Given the description of an element on the screen output the (x, y) to click on. 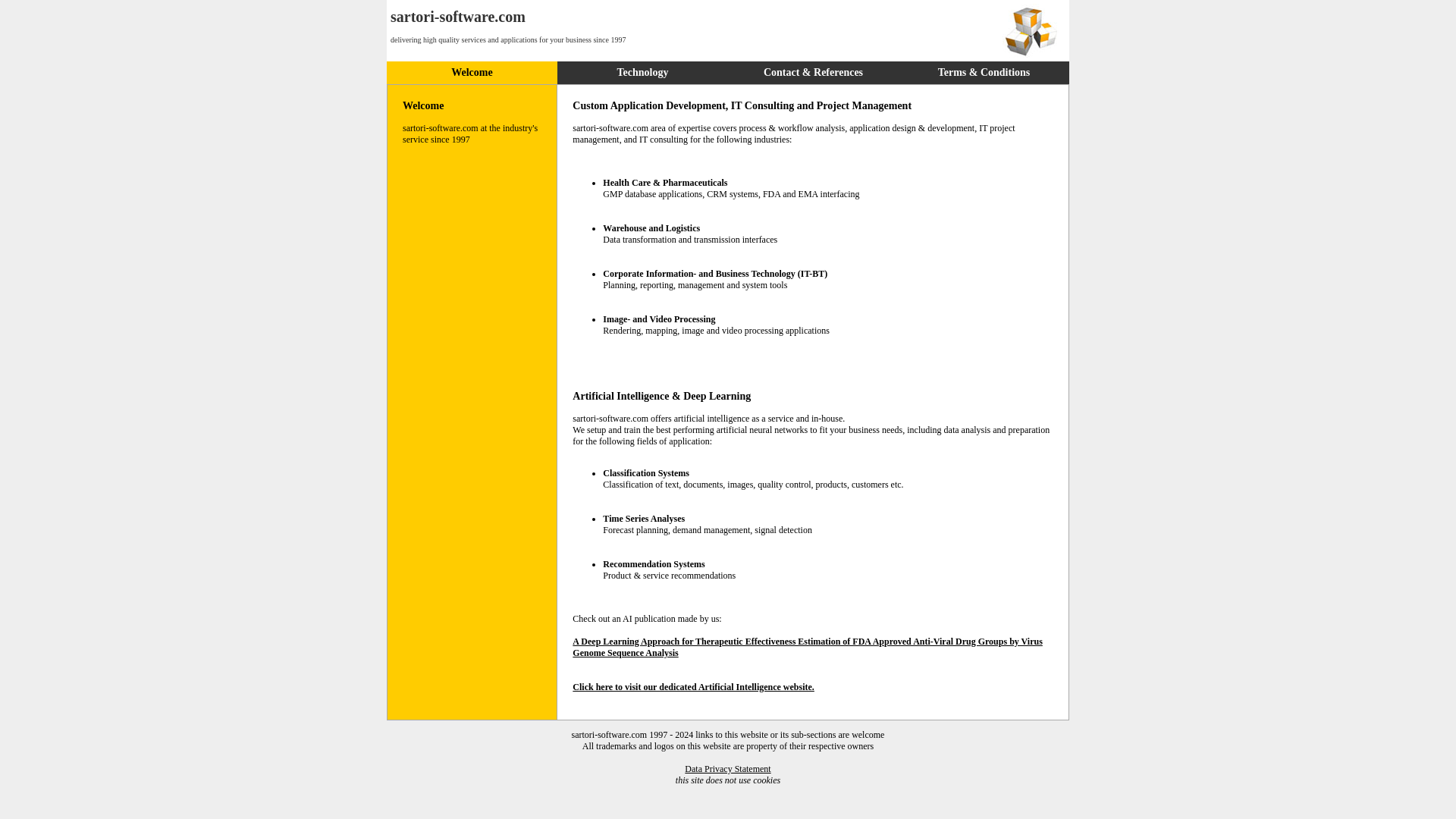
Welcome (471, 71)
Technology (642, 71)
Data Privacy Statement (727, 768)
